Given the description of an element on the screen output the (x, y) to click on. 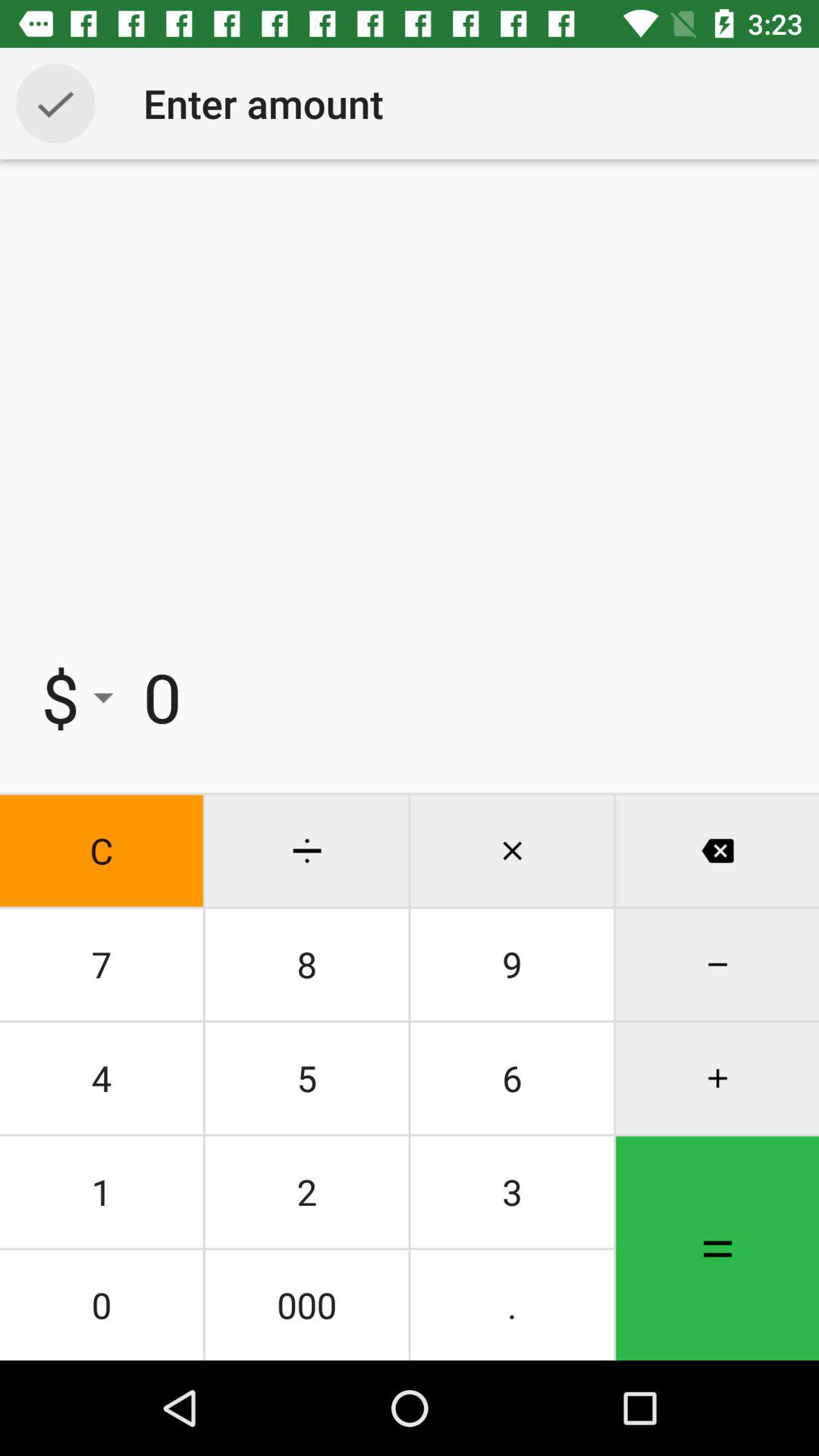
jump until 8 item (306, 964)
